Given the description of an element on the screen output the (x, y) to click on. 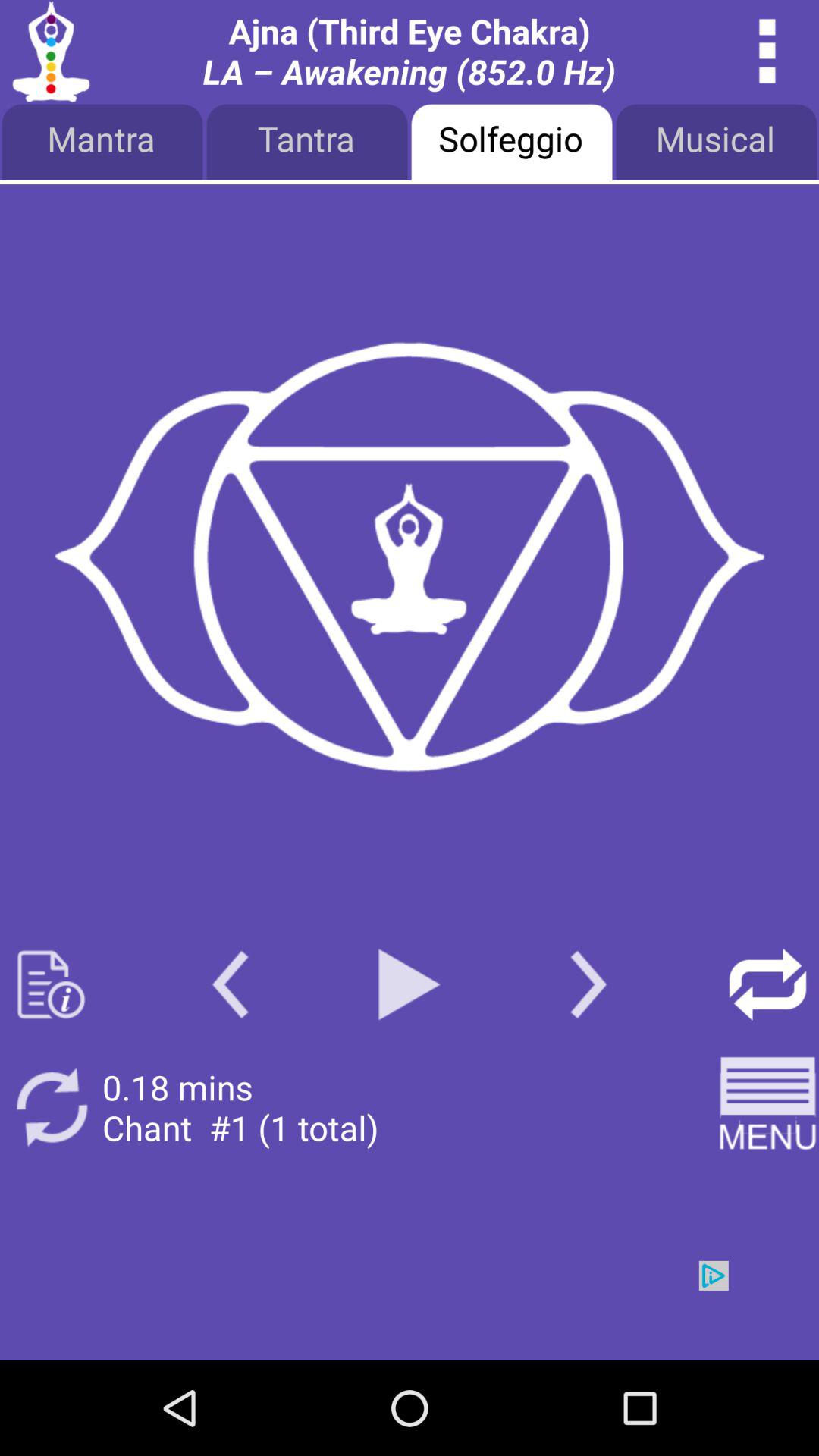
open menu (767, 1107)
